Given the description of an element on the screen output the (x, y) to click on. 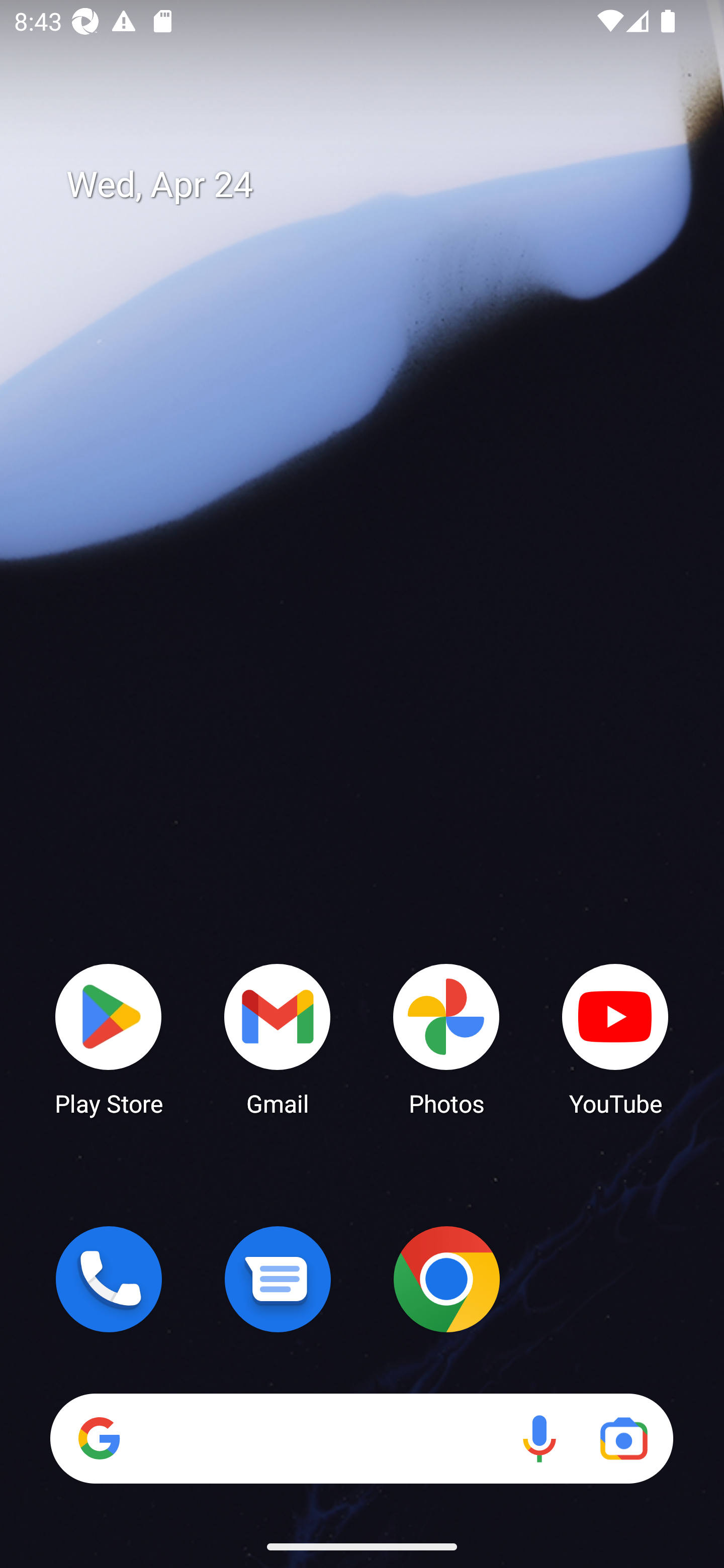
Wed, Apr 24 (375, 184)
Play Store (108, 1038)
Gmail (277, 1038)
Photos (445, 1038)
YouTube (615, 1038)
Phone (108, 1279)
Messages (277, 1279)
Chrome (446, 1279)
Search Voice search Google Lens (361, 1438)
Voice search (539, 1438)
Google Lens (623, 1438)
